Given the description of an element on the screen output the (x, y) to click on. 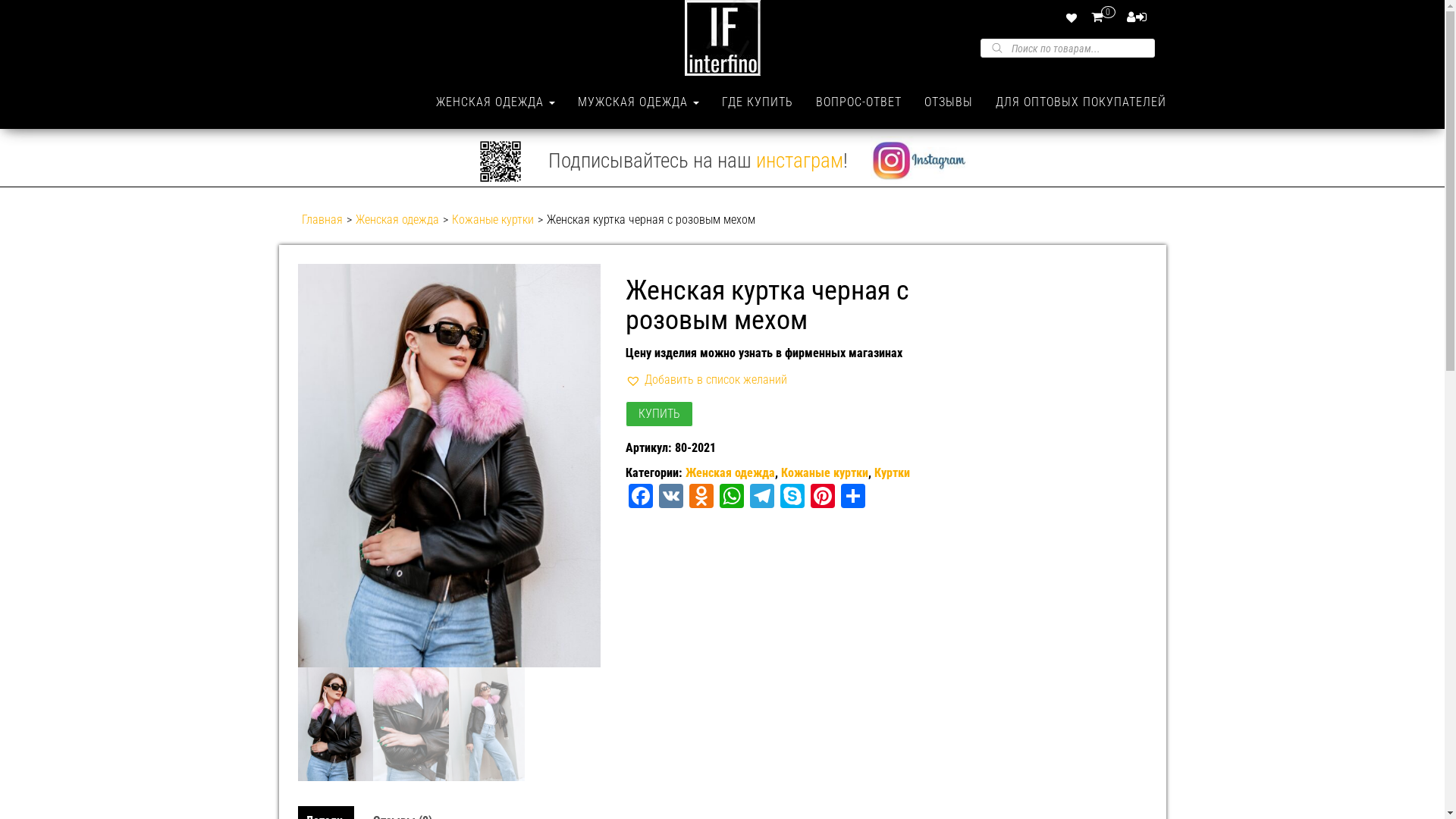
Odnoklassniki Element type: text (701, 497)
VK Element type: text (670, 497)
Pinterest Element type: text (822, 497)
Skype Element type: text (792, 497)
WhatsApp Element type: text (731, 497)
Telegram Element type: text (761, 497)
0 Element type: text (1106, 16)
Facebook Element type: text (640, 497)
